Given the description of an element on the screen output the (x, y) to click on. 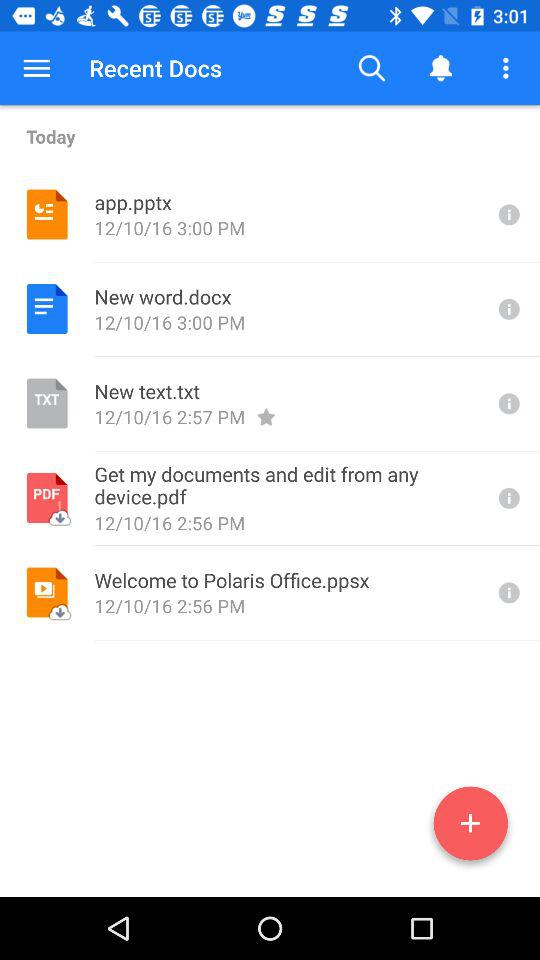
see info for third document (507, 403)
